Given the description of an element on the screen output the (x, y) to click on. 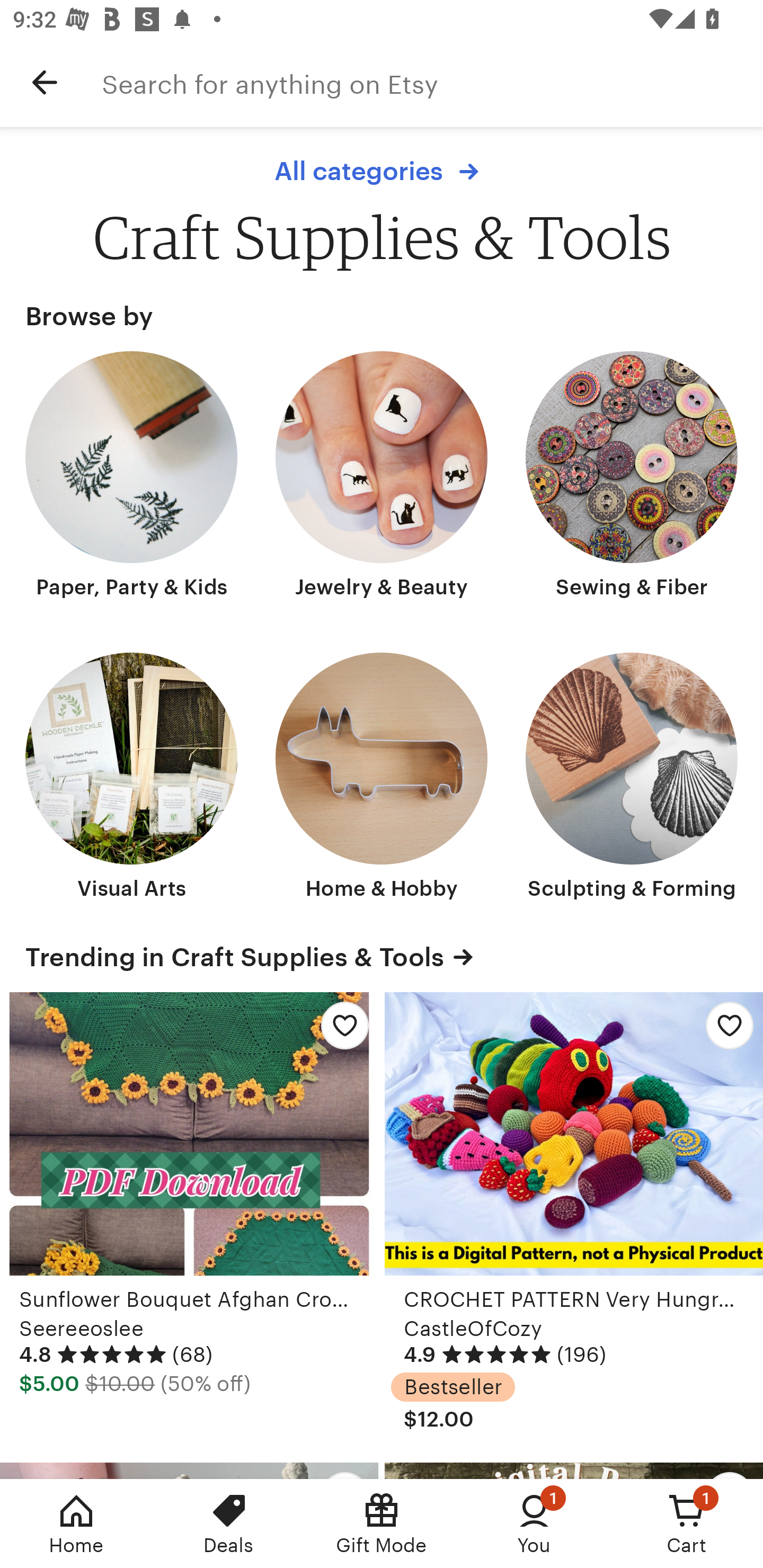
Navigate up (44, 82)
Search for anything on Etsy (432, 82)
All categories (380, 171)
Paper, Party & Kids (131, 476)
Jewelry & Beauty (381, 476)
Sewing & Fiber (631, 476)
Visual Arts (131, 777)
Home & Hobby (381, 777)
Sculpting & Forming (631, 777)
Trending in Craft Supplies & Tools  (381, 956)
Home (76, 1523)
Gift Mode (381, 1523)
You, 1 new notification You (533, 1523)
Cart, 1 new notification Cart (686, 1523)
